Given the description of an element on the screen output the (x, y) to click on. 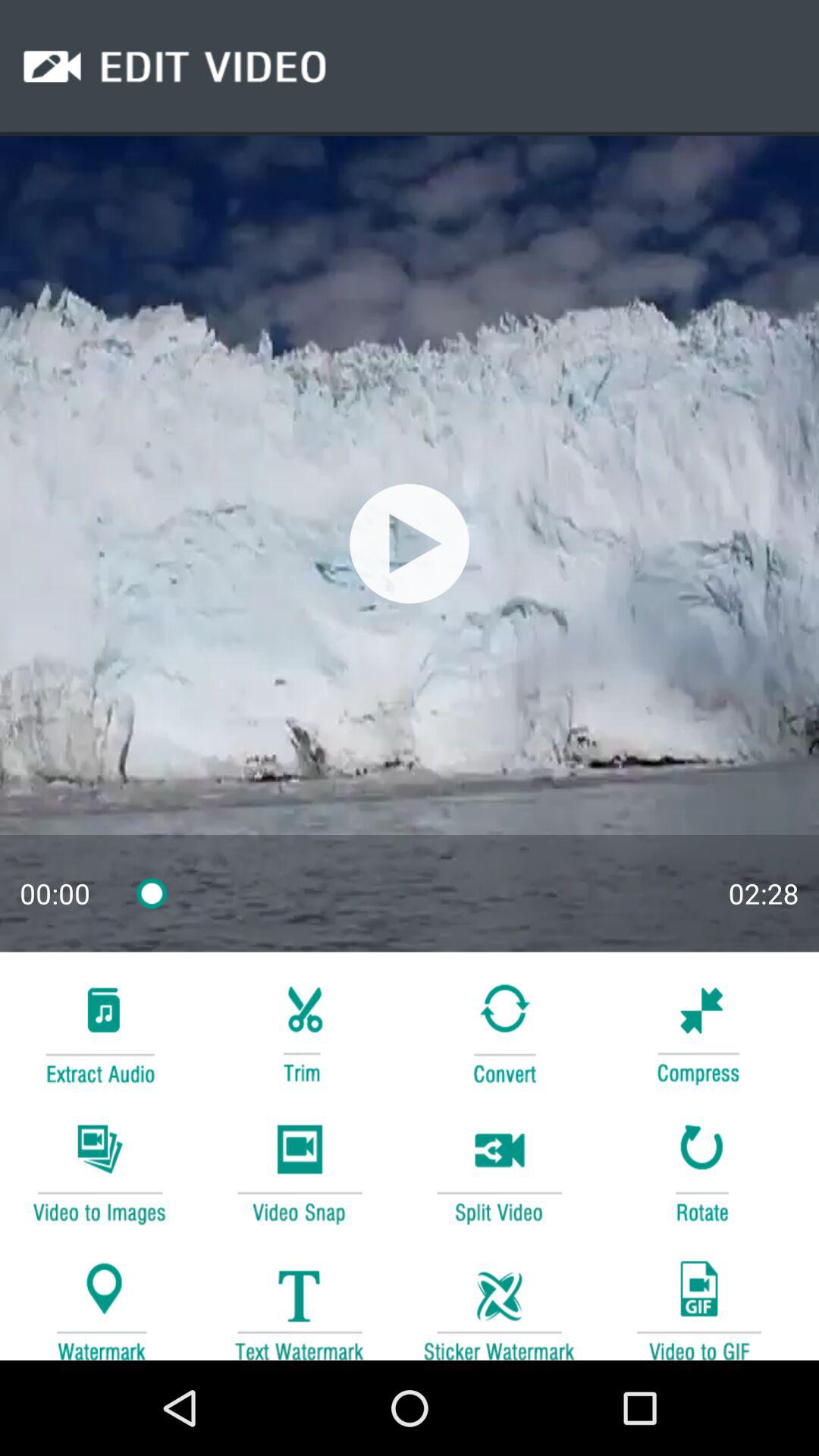
click the video snap (299, 1171)
